Given the description of an element on the screen output the (x, y) to click on. 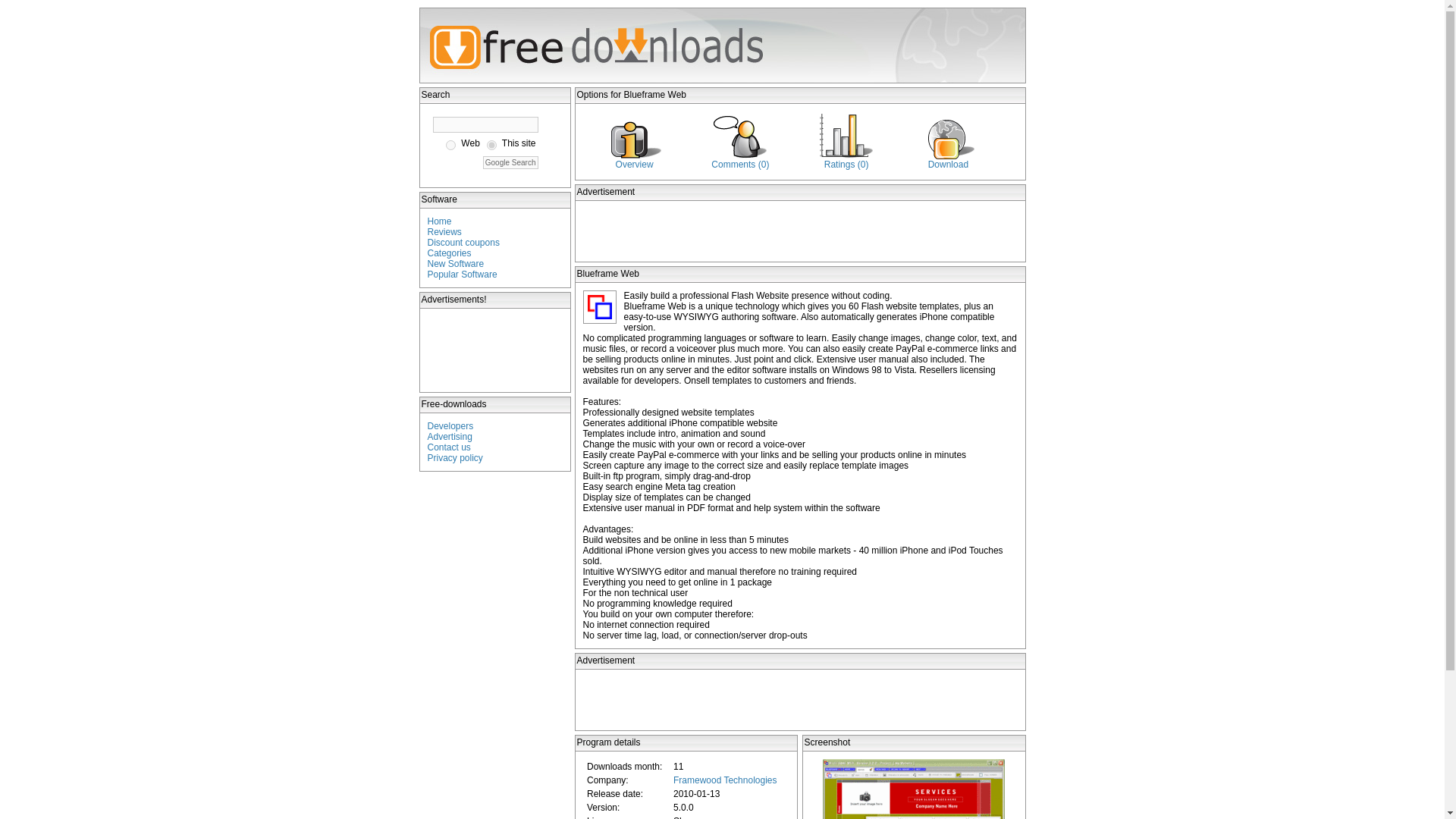
Google Search (510, 162)
www.free-downloads.net (491, 144)
Home (439, 221)
Developers (451, 425)
Reviews (444, 231)
Popular Software (462, 274)
Contact us (449, 447)
Framewood Technologies (724, 779)
Advertising (449, 436)
Download (948, 163)
Privacy policy (455, 457)
Categories (449, 253)
Google Search (510, 162)
New Software (456, 263)
Advertisement (799, 230)
